Given the description of an element on the screen output the (x, y) to click on. 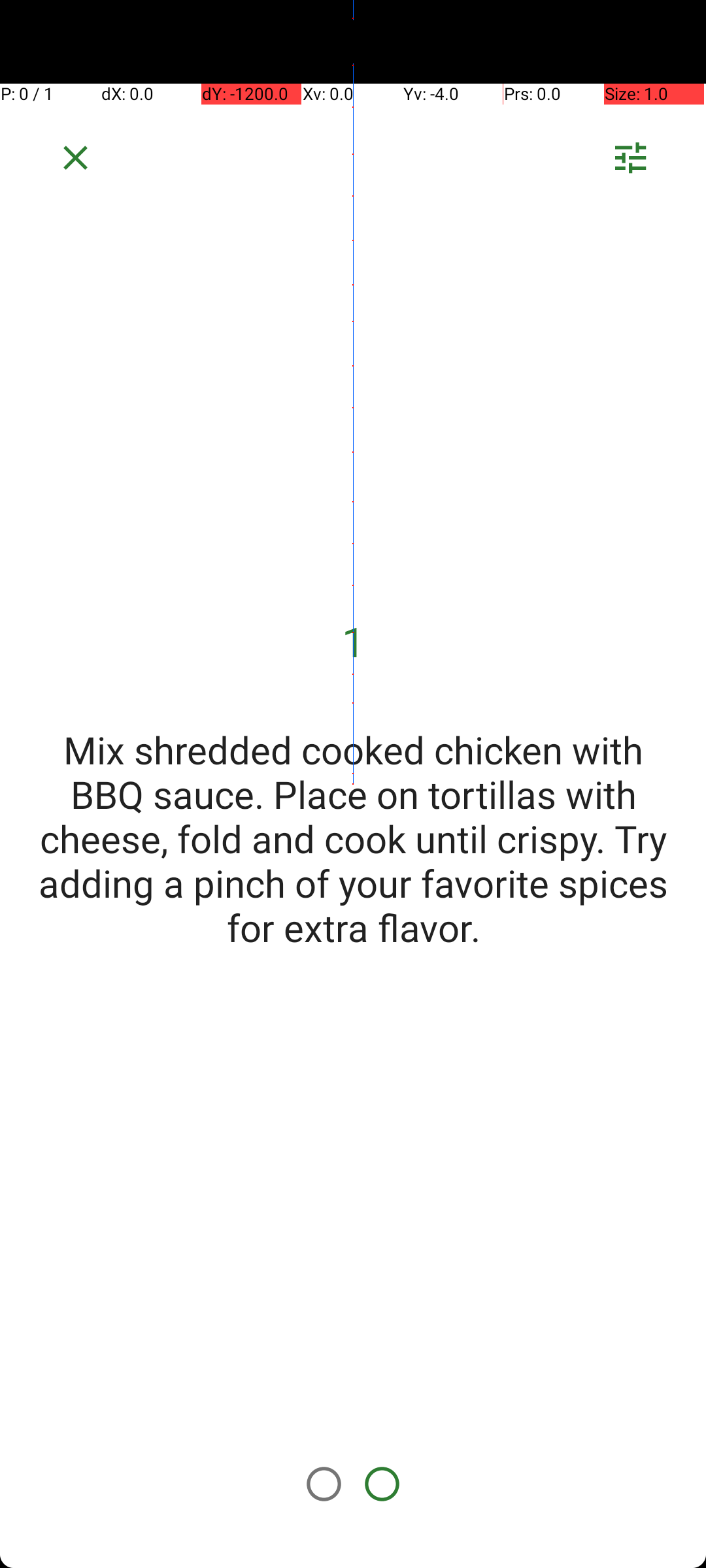
Mix shredded cooked chicken with BBQ sauce. Place on tortillas with cheese, fold and cook until crispy. Try adding a pinch of your favorite spices for extra flavor. Element type: android.widget.TextView (352, 837)
